Given the description of an element on the screen output the (x, y) to click on. 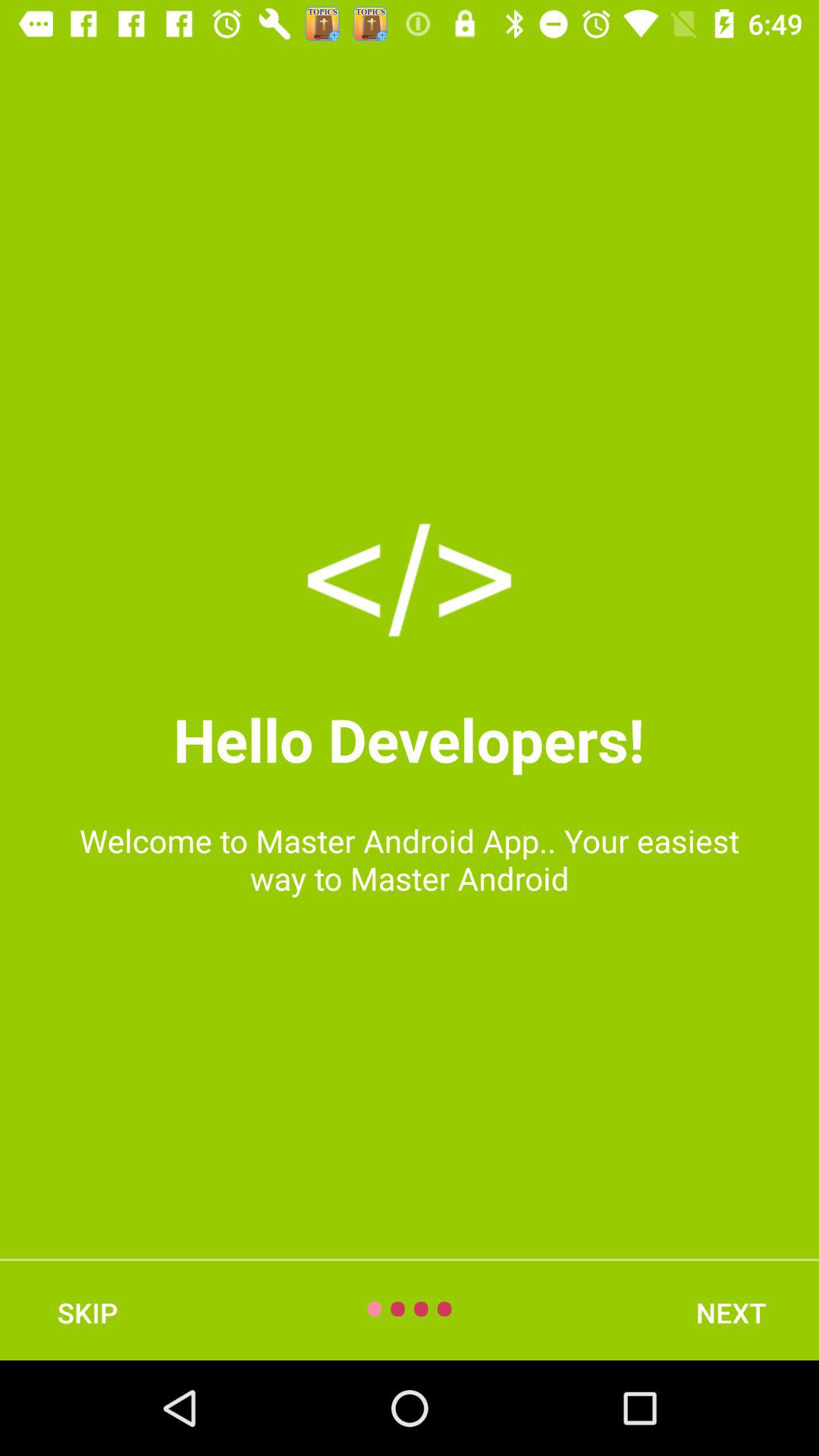
scroll to the next (731, 1312)
